Given the description of an element on the screen output the (x, y) to click on. 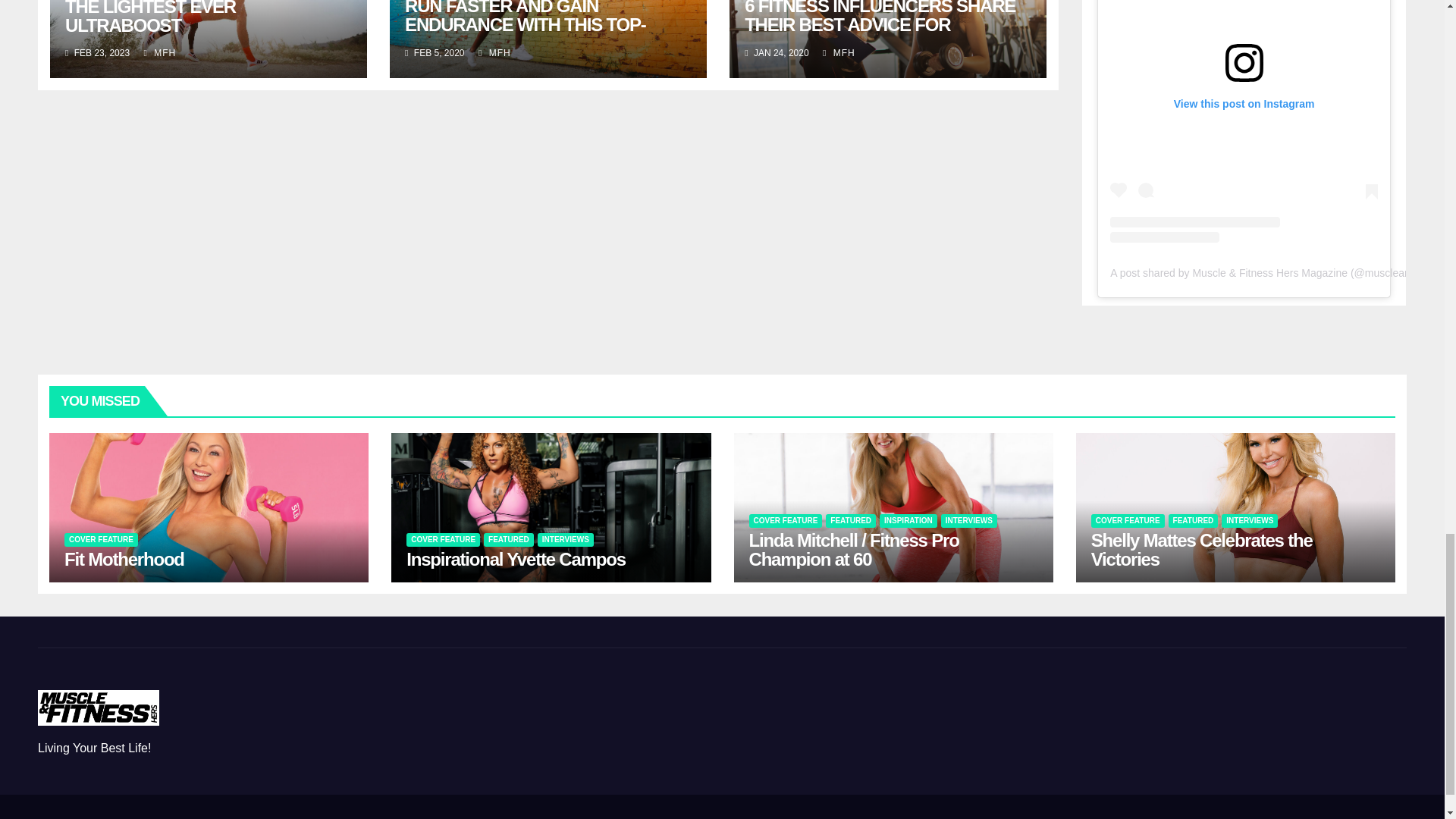
Permalink to: Inspirational Yvette Campos (516, 558)
Permalink to: Shelly Mattes Celebrates the Victories (1201, 549)
Permalink to: THE LIGHTEST EVER ULTRABOOST (150, 18)
Weight Loss (1042, 816)
Nutrition (969, 816)
Permalink to: Fit Motherhood (124, 558)
